Given the description of an element on the screen output the (x, y) to click on. 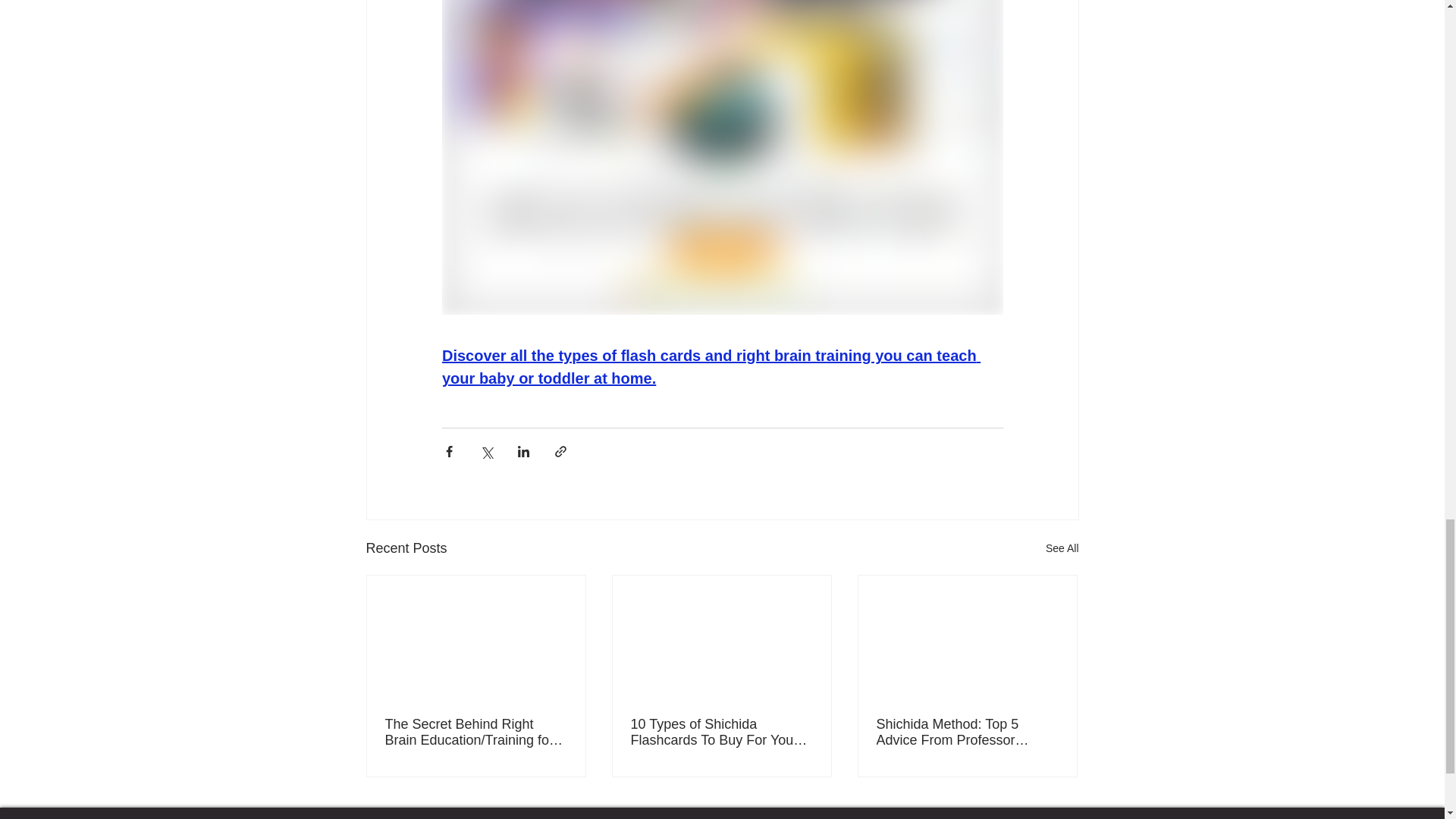
Shichida Method: Top 5 Advice From Professor Makoto Shichida (967, 732)
See All (1061, 548)
